Given the description of an element on the screen output the (x, y) to click on. 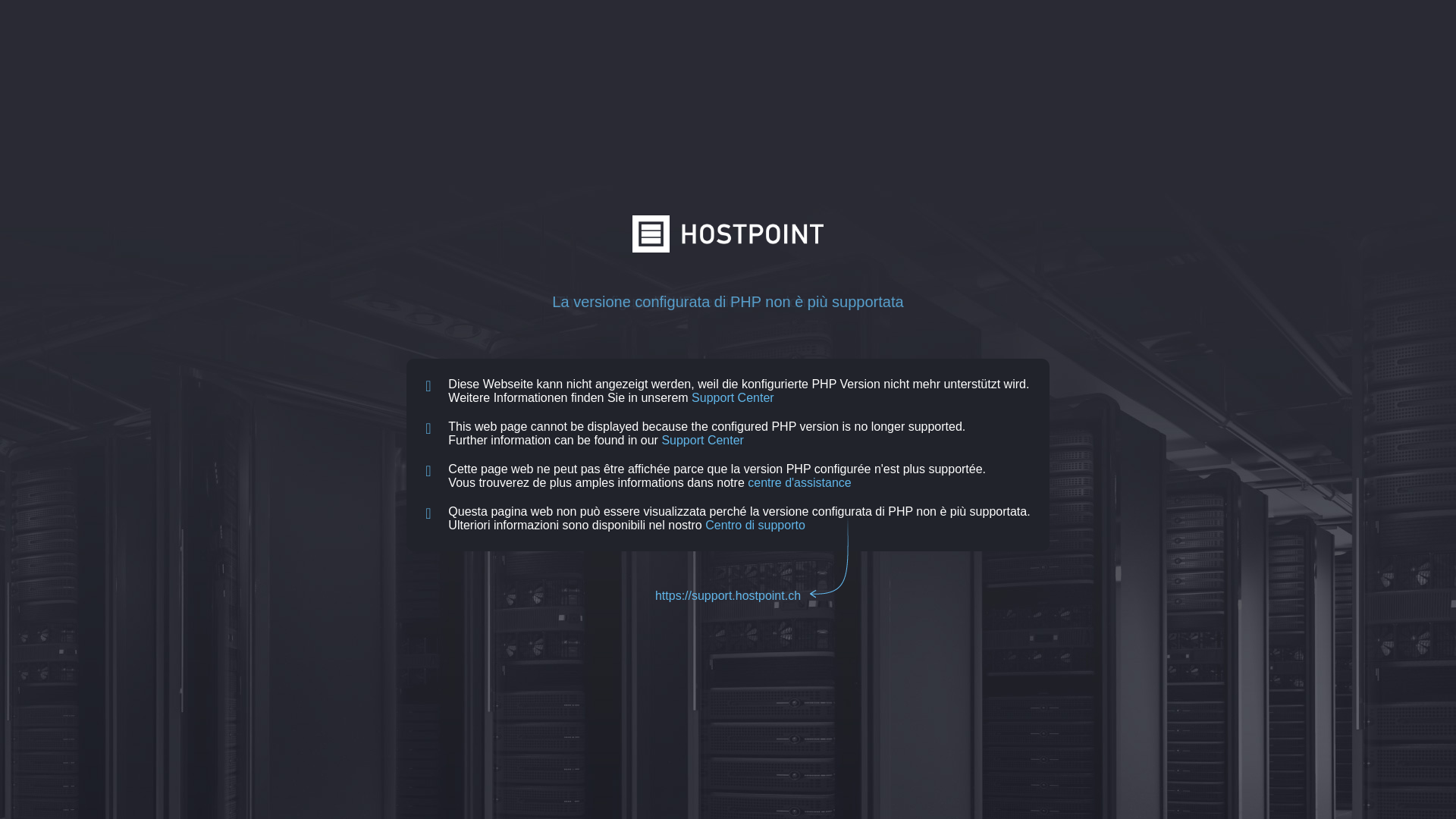
Support Center Element type: text (702, 439)
centre d'assistance Element type: text (798, 482)
https://support.hostpoint.ch Element type: text (727, 595)
Centro di supporto Element type: text (755, 524)
Support Center Element type: text (732, 397)
